Given the description of an element on the screen output the (x, y) to click on. 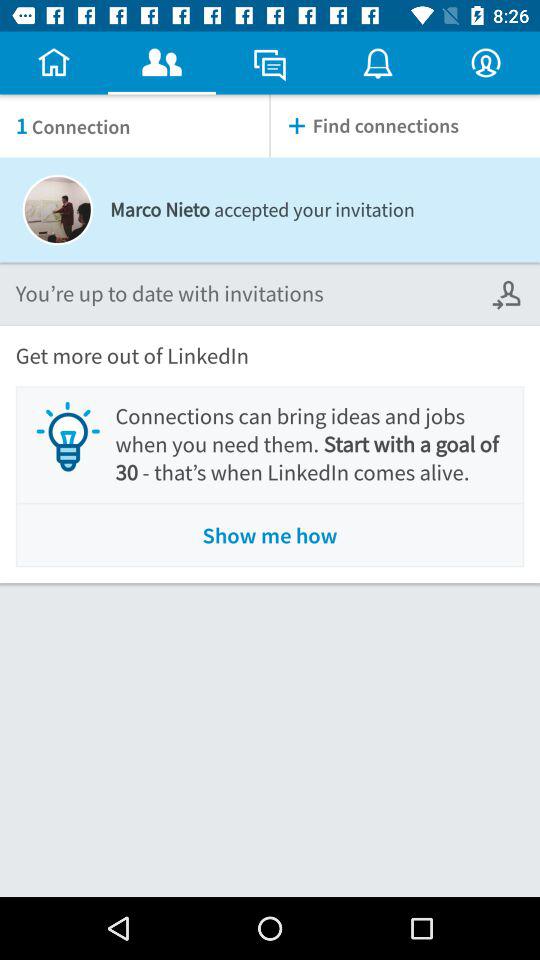
tap 1 connection (134, 125)
